Given the description of an element on the screen output the (x, y) to click on. 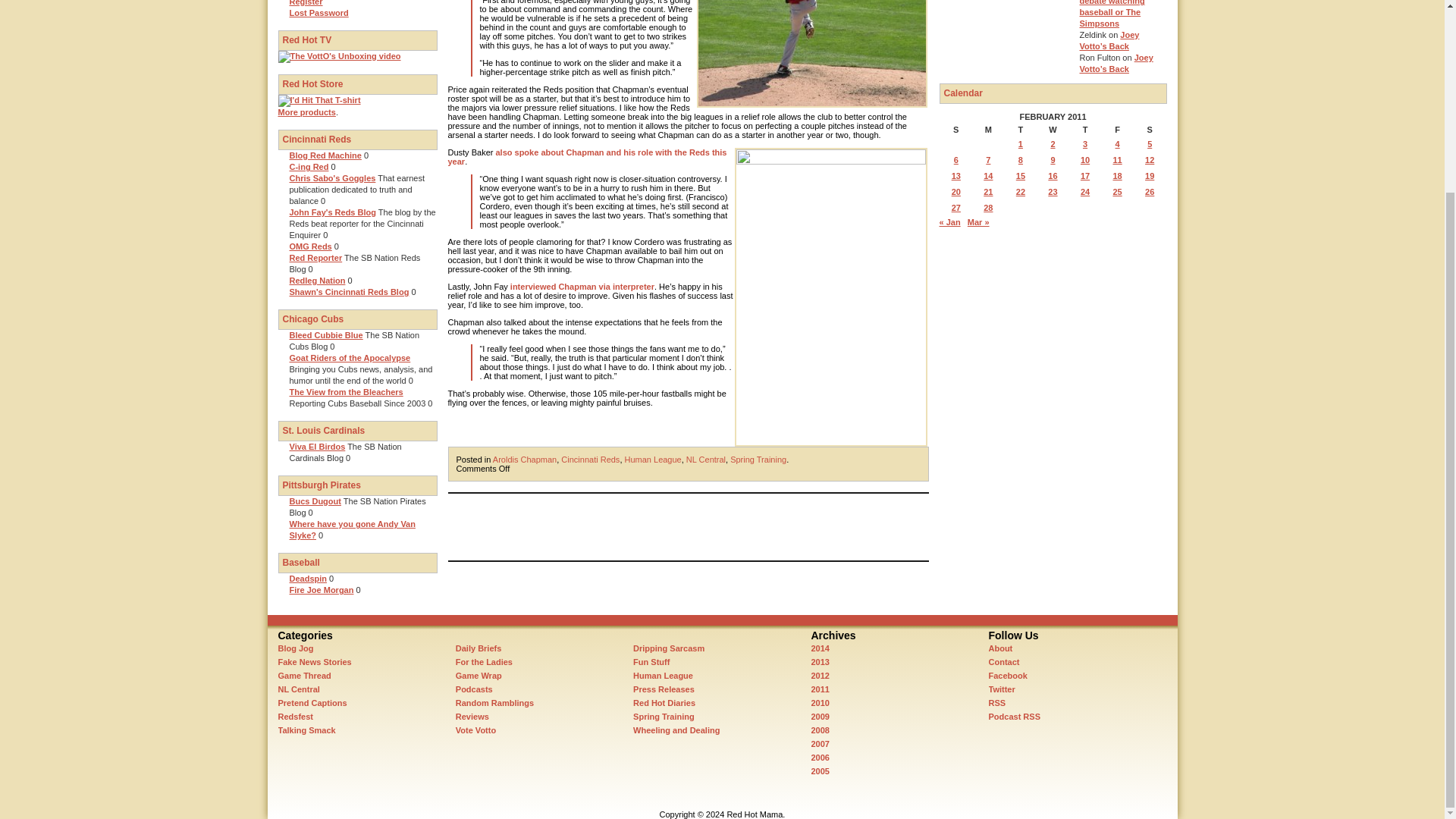
C-ing Red (309, 166)
Shawn's Cincinnati Reds Blog (349, 291)
Blog Red Machine (325, 154)
Lost Password (319, 12)
Redleg Nation (317, 280)
Red Reporter (315, 257)
Aroldis Chapman (524, 459)
NL Central (705, 459)
OMG Reds (310, 245)
